Given the description of an element on the screen output the (x, y) to click on. 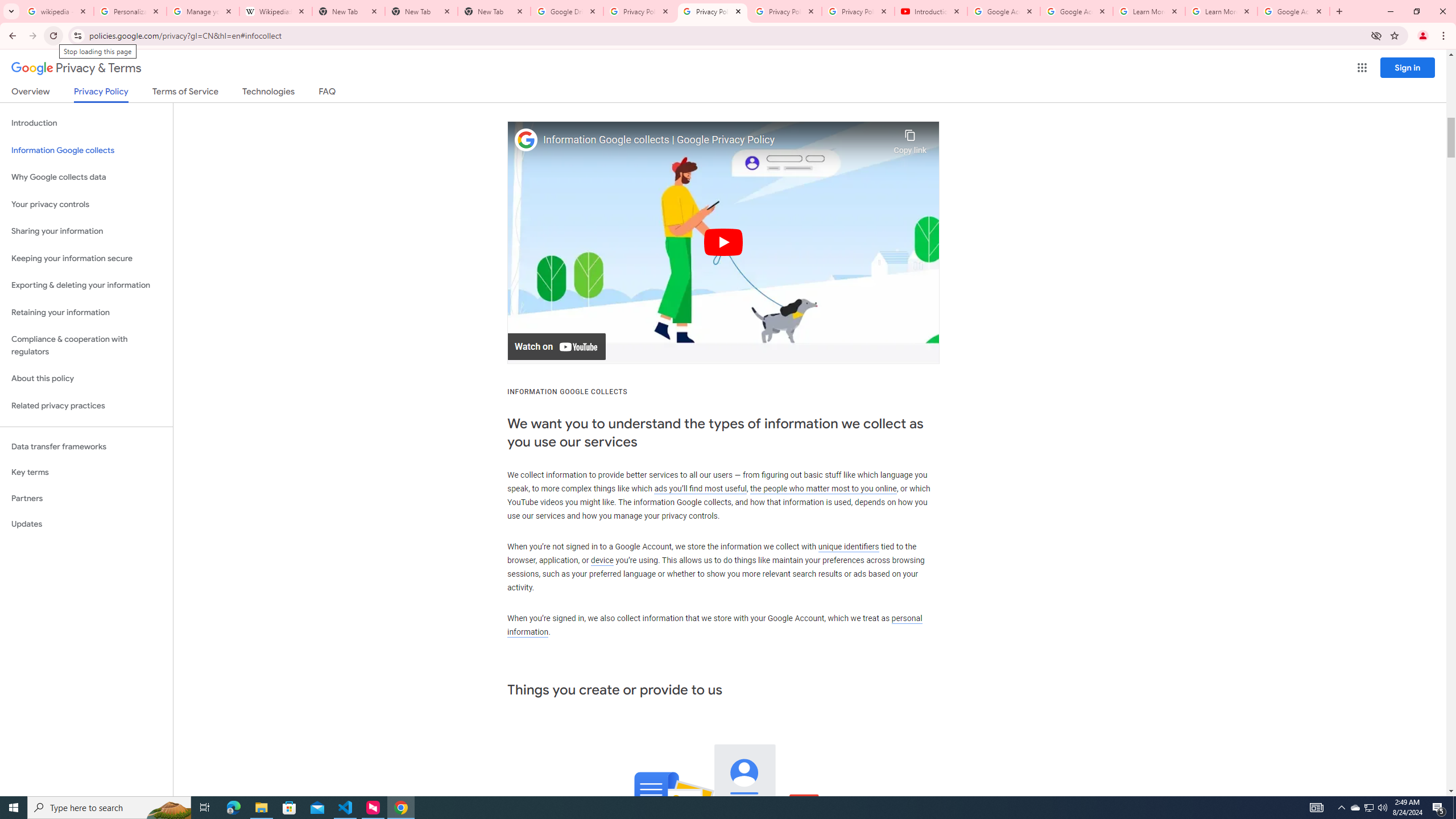
About this policy (86, 379)
Related privacy practices (86, 405)
device (601, 560)
You (1422, 35)
Privacy Policy (100, 94)
personal information (714, 625)
Manage your Location History - Google Search Help (202, 11)
